Given the description of an element on the screen output the (x, y) to click on. 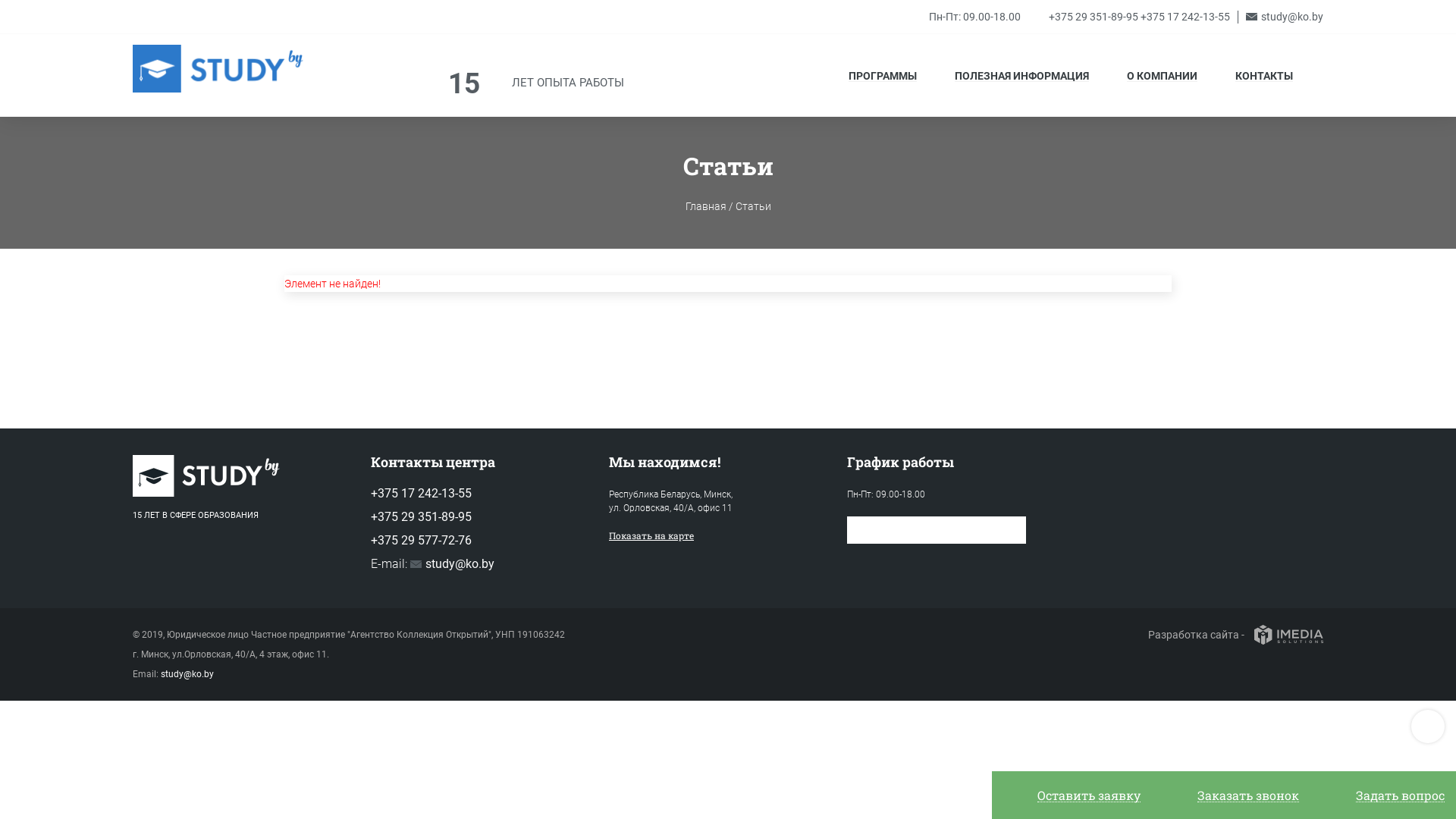
+375 29 351-89-95 Element type: text (420, 516)
+375 29 577-72-76 Element type: text (420, 540)
+375 29 351-89-95 Element type: text (1093, 16)
+375 17 242-13-5 Element type: text (1181, 16)
study@ko.by Element type: text (186, 673)
+375 17 242-13-55 Element type: text (420, 493)
study@ko.by Element type: text (1284, 16)
study@ko.by Element type: text (452, 563)
